Given the description of an element on the screen output the (x, y) to click on. 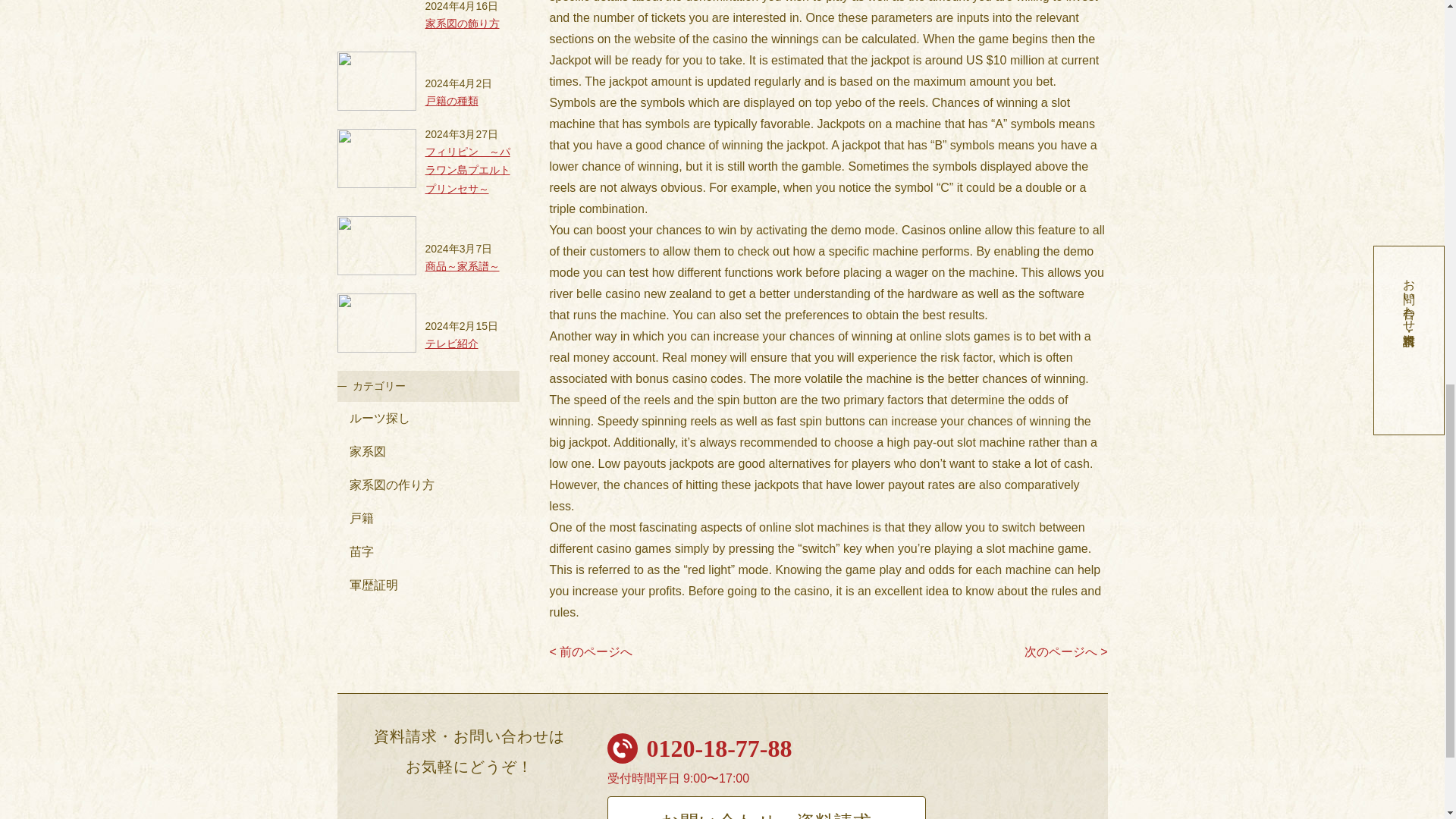
river belle casino new zealand (629, 293)
yebo (848, 102)
0120-18-77-88 (719, 748)
